Given the description of an element on the screen output the (x, y) to click on. 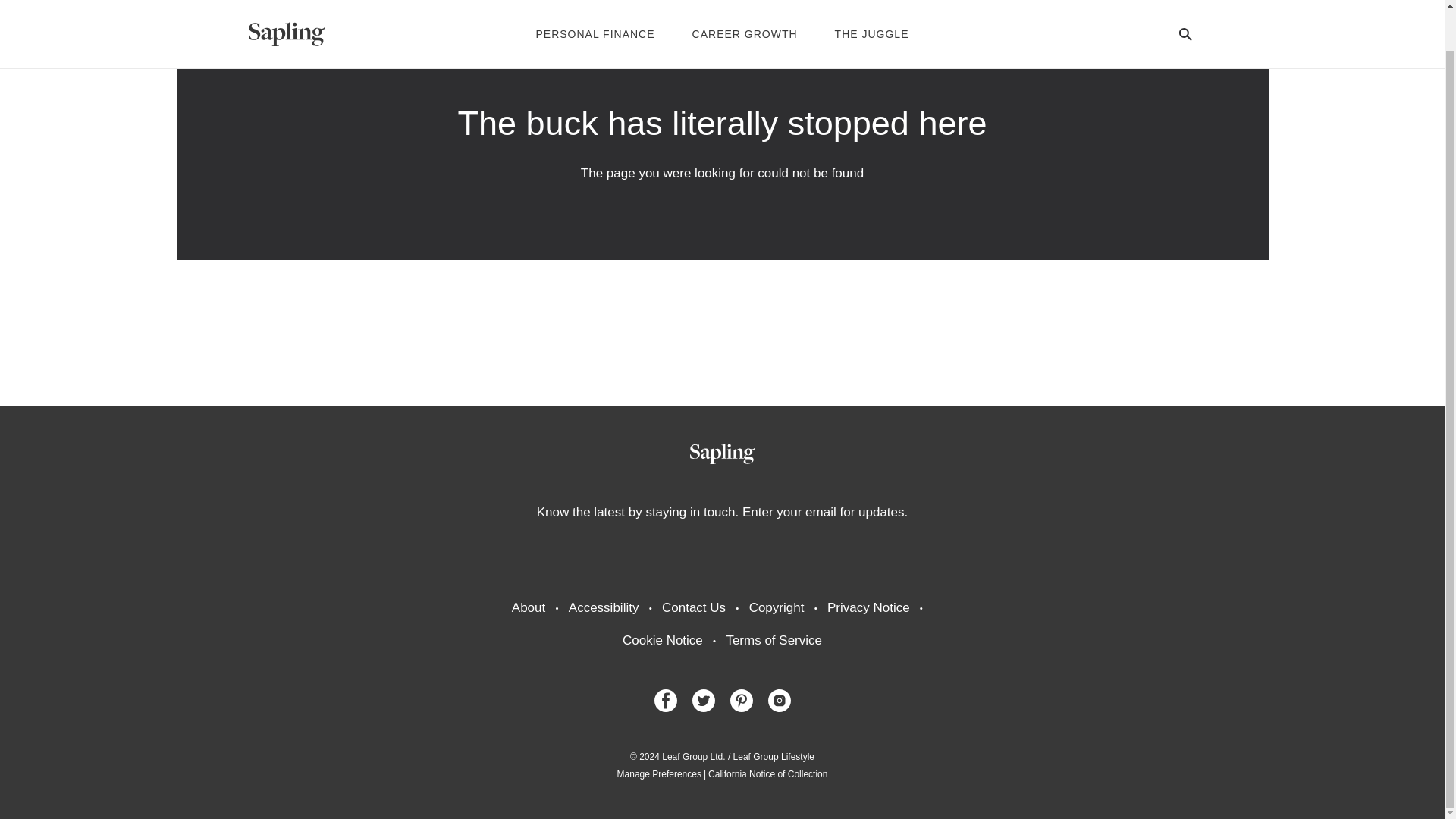
Privacy Notice (868, 608)
Terms of Service (773, 640)
Contact Us (693, 608)
About (528, 608)
Cookie Notice (663, 640)
Accessibility (604, 608)
Copyright (777, 608)
